Given the description of an element on the screen output the (x, y) to click on. 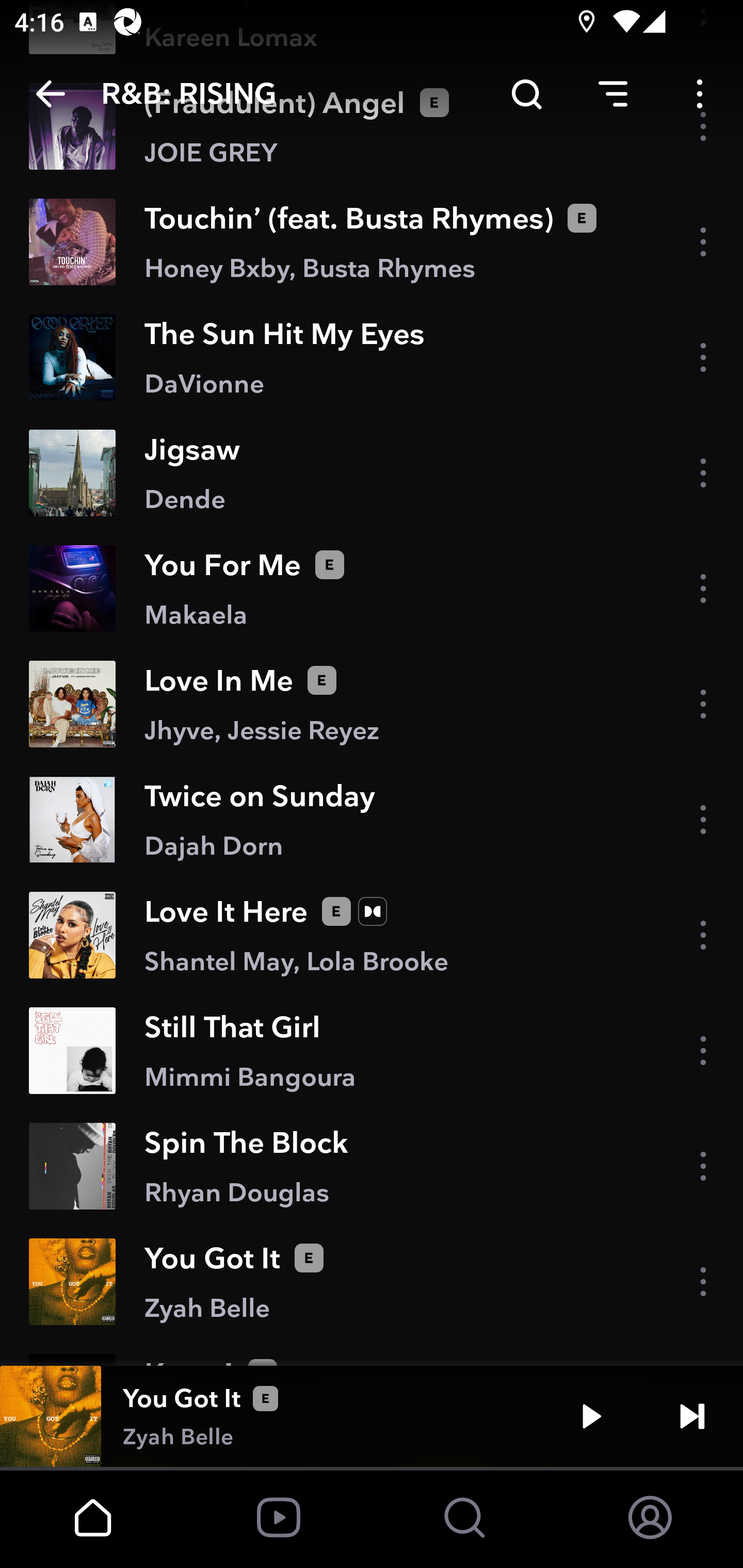
Back (50, 93)
Search (525, 93)
Sorting (612, 93)
Options (699, 93)
(Fraudulent) Angel JOIE GREY (371, 125)
The Sun Hit My Eyes DaVionne (371, 357)
Jigsaw Dende (371, 472)
You For Me Makaela (371, 587)
Love In Me Jhyve, Jessie Reyez (371, 704)
Twice on Sunday Dajah Dorn (371, 820)
Love It Here Shantel May, Lola Brooke (371, 935)
Still That Girl Mimmi Bangoura (371, 1050)
Spin The Block Rhyan Douglas (371, 1166)
You Got It Zyah Belle (371, 1281)
You Got It    Zyah Belle Play (371, 1416)
Play (590, 1416)
